Given the description of an element on the screen output the (x, y) to click on. 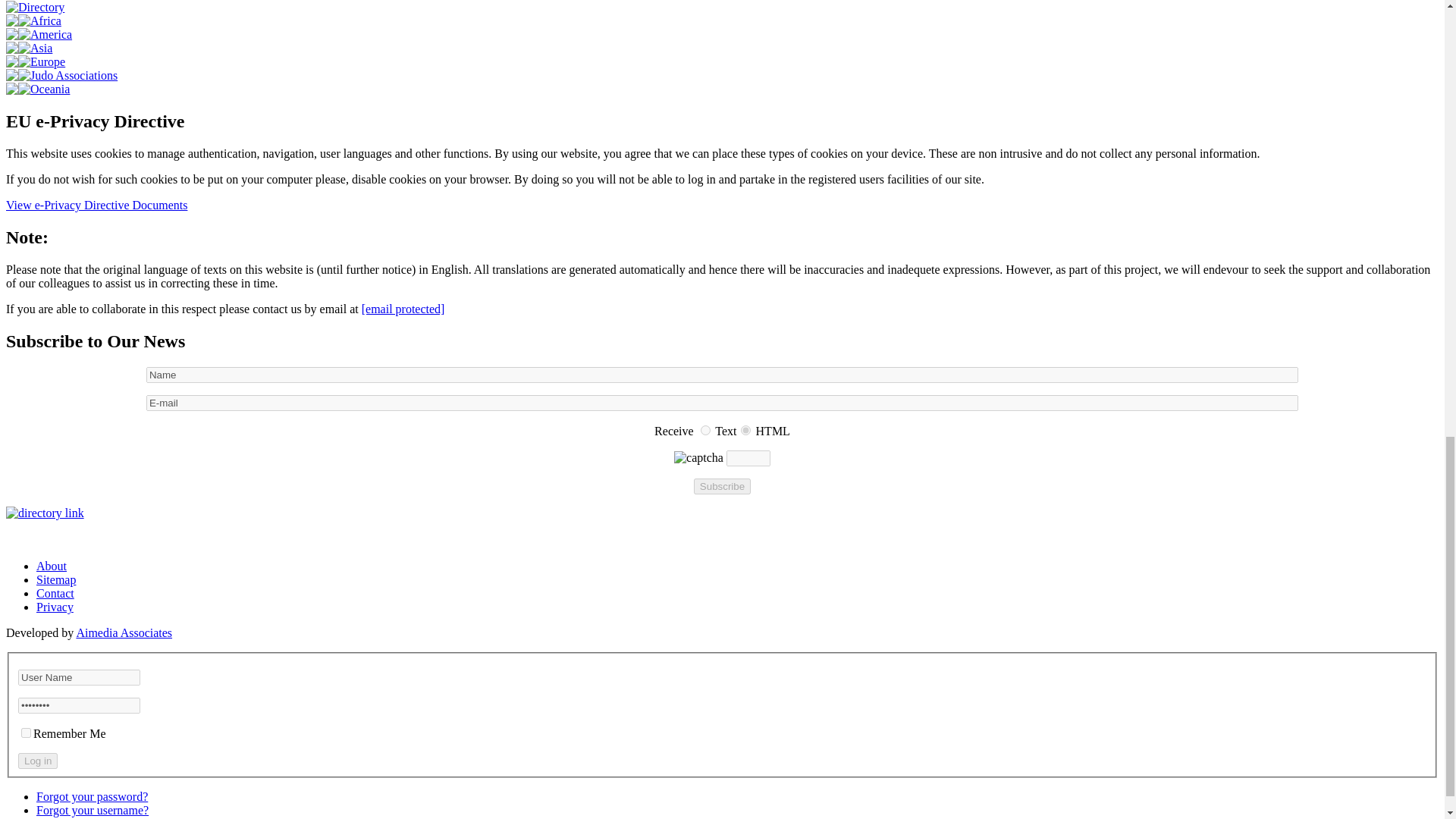
Name (722, 374)
Receive (705, 429)
Subscribe (722, 486)
Please enter the security code displayed in the image (698, 458)
User Name (78, 677)
Receive (746, 429)
Password (78, 705)
E-mail (722, 402)
yes (25, 732)
0 (705, 429)
Log in (37, 760)
E-mail (722, 402)
Name (722, 374)
Please enter the security code displayed in the image (748, 458)
1 (746, 429)
